Given the description of an element on the screen output the (x, y) to click on. 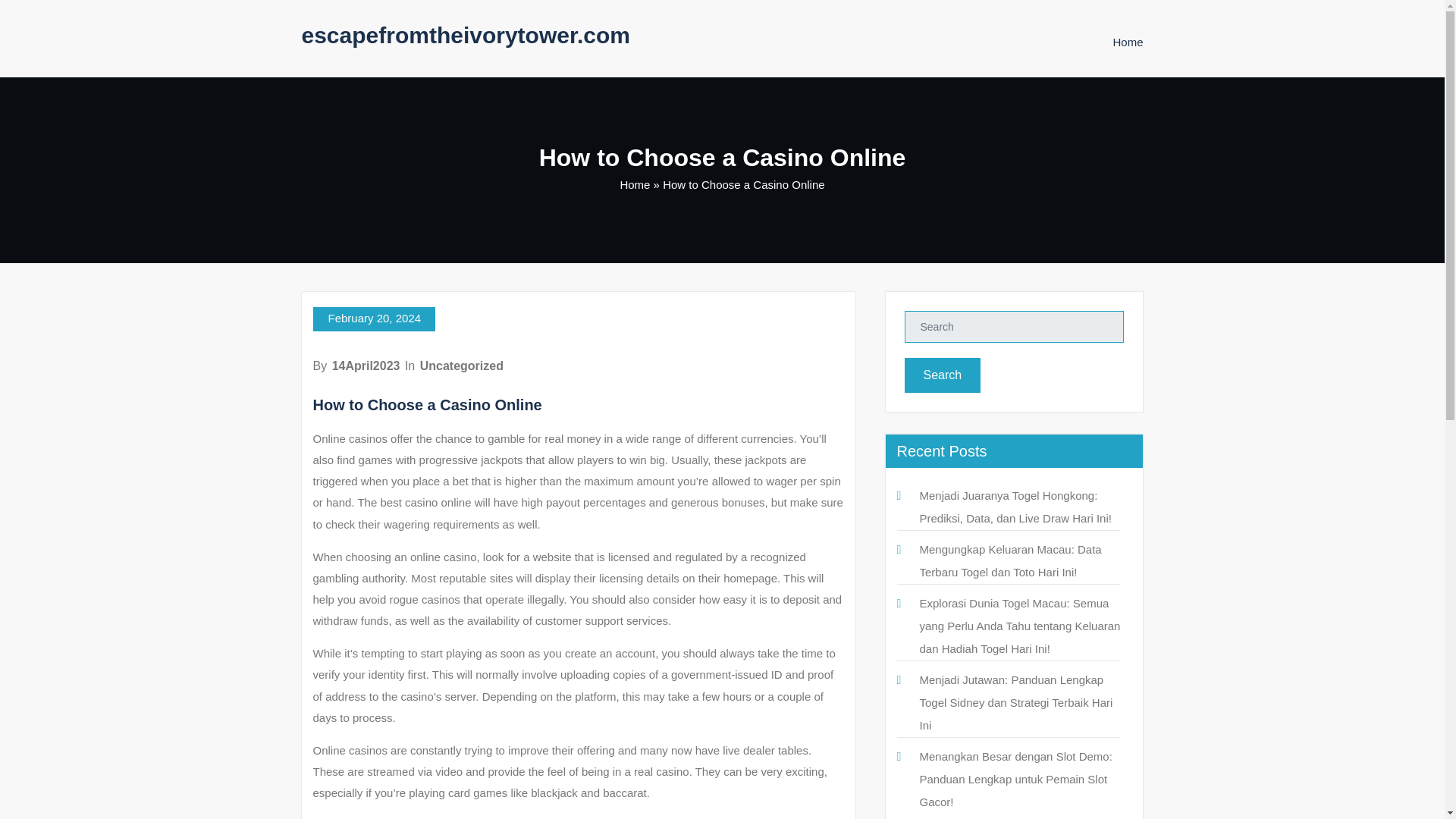
14April2023 (365, 365)
escapefromtheivorytower.com (465, 34)
Search (941, 375)
February 20, 2024 (374, 319)
Home (1127, 41)
Home (1127, 41)
Home (634, 184)
